Given the description of an element on the screen output the (x, y) to click on. 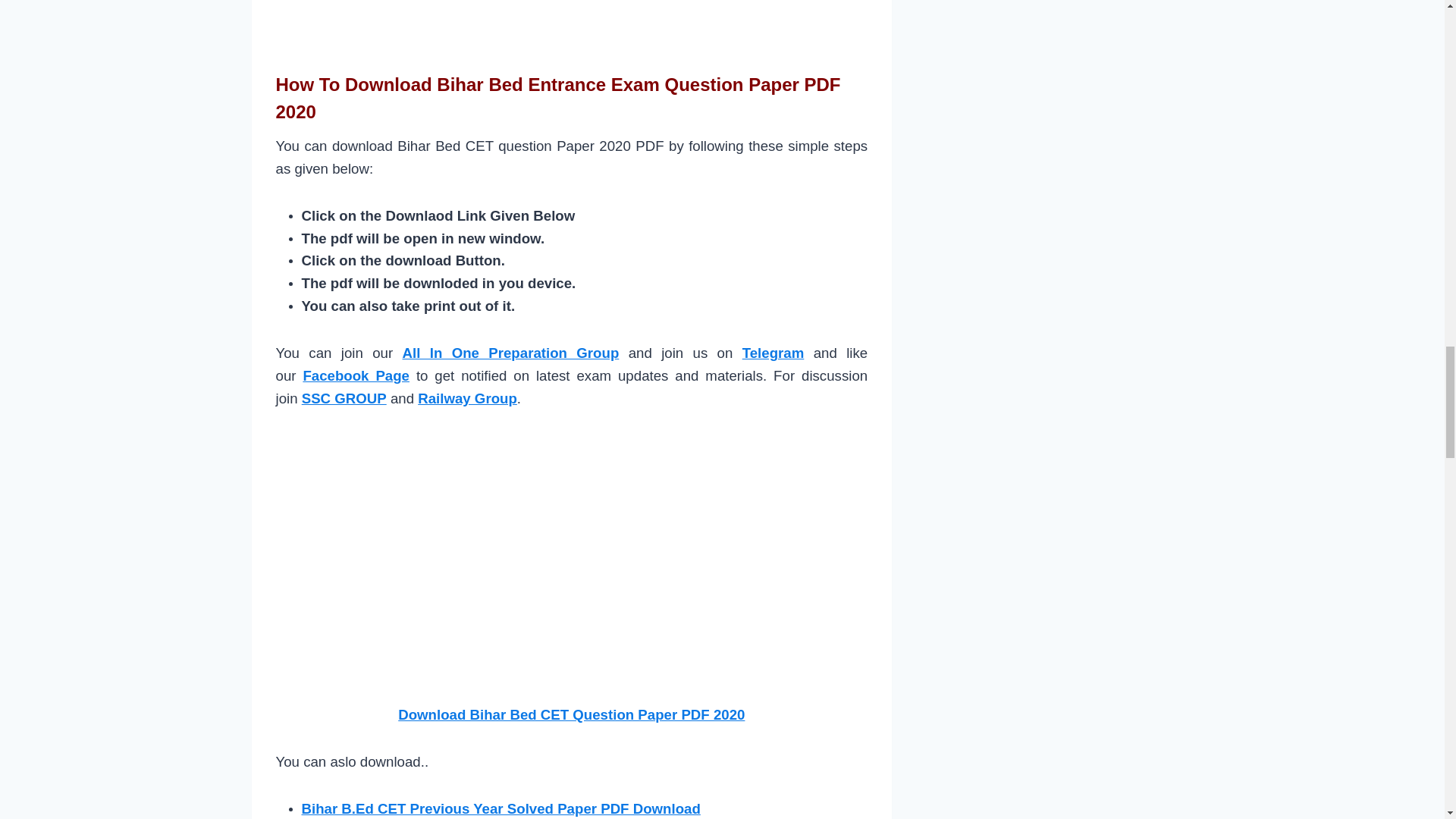
SSC GROUP (344, 398)
Railway Group (466, 398)
Bihar B.Ed CET Previous Year Solved Paper PDF Download (500, 808)
Telegram (773, 352)
Facebook Page (355, 375)
Download Bihar Bed CET Question Paper PDF 2020 (570, 714)
All In One Preparation Group (511, 352)
